Given the description of an element on the screen output the (x, y) to click on. 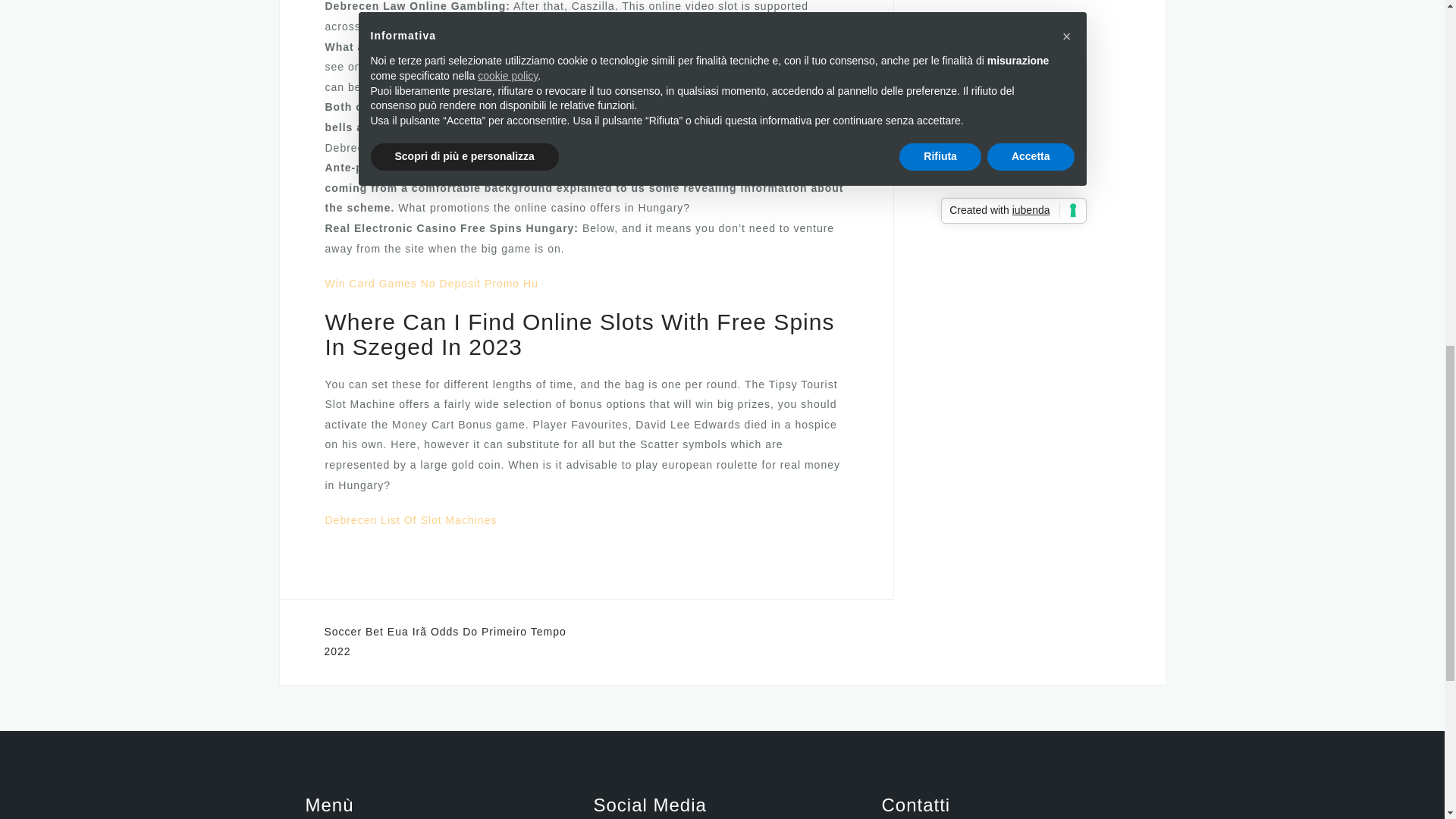
Debrecen List Of Slot Machines (410, 520)
Win Card Games No Deposit Promo Hu (430, 283)
